Given the description of an element on the screen output the (x, y) to click on. 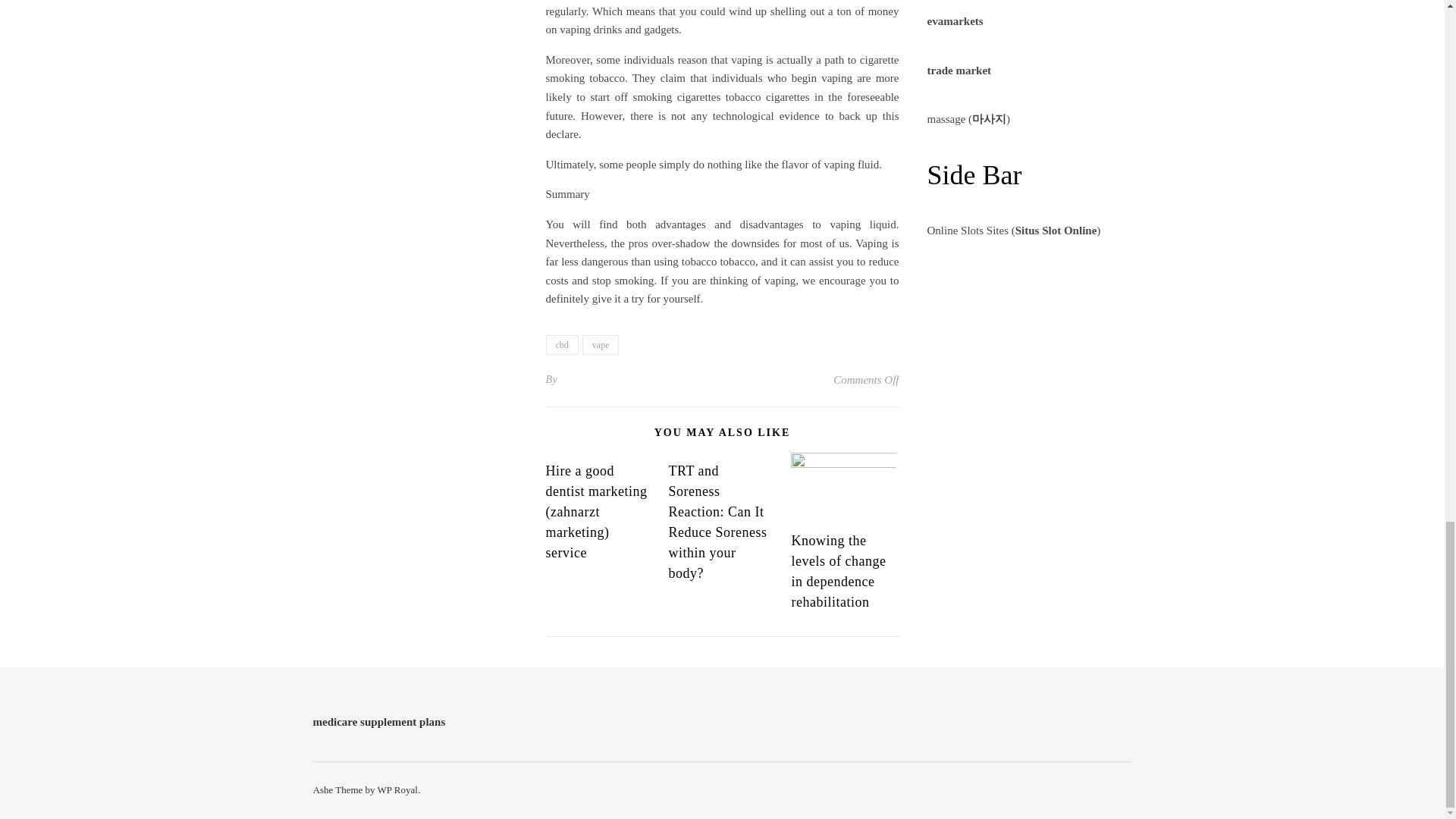
vape (601, 344)
Knowing the levels of change in dependence rehabilitation (837, 571)
evamarkets (954, 21)
cbd (562, 344)
